Given the description of an element on the screen output the (x, y) to click on. 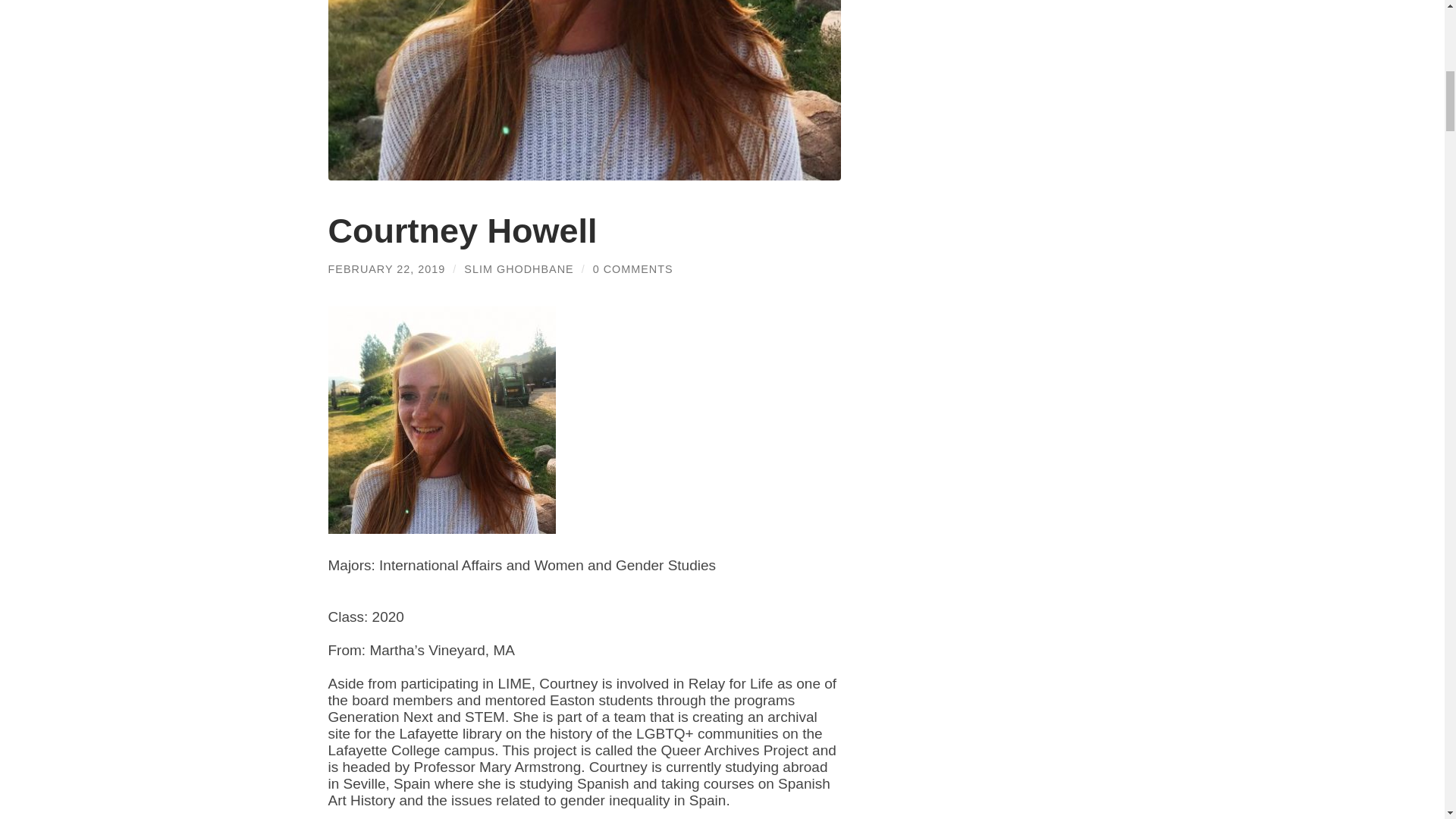
Posts by Slim Ghodhbane (518, 268)
